Given the description of an element on the screen output the (x, y) to click on. 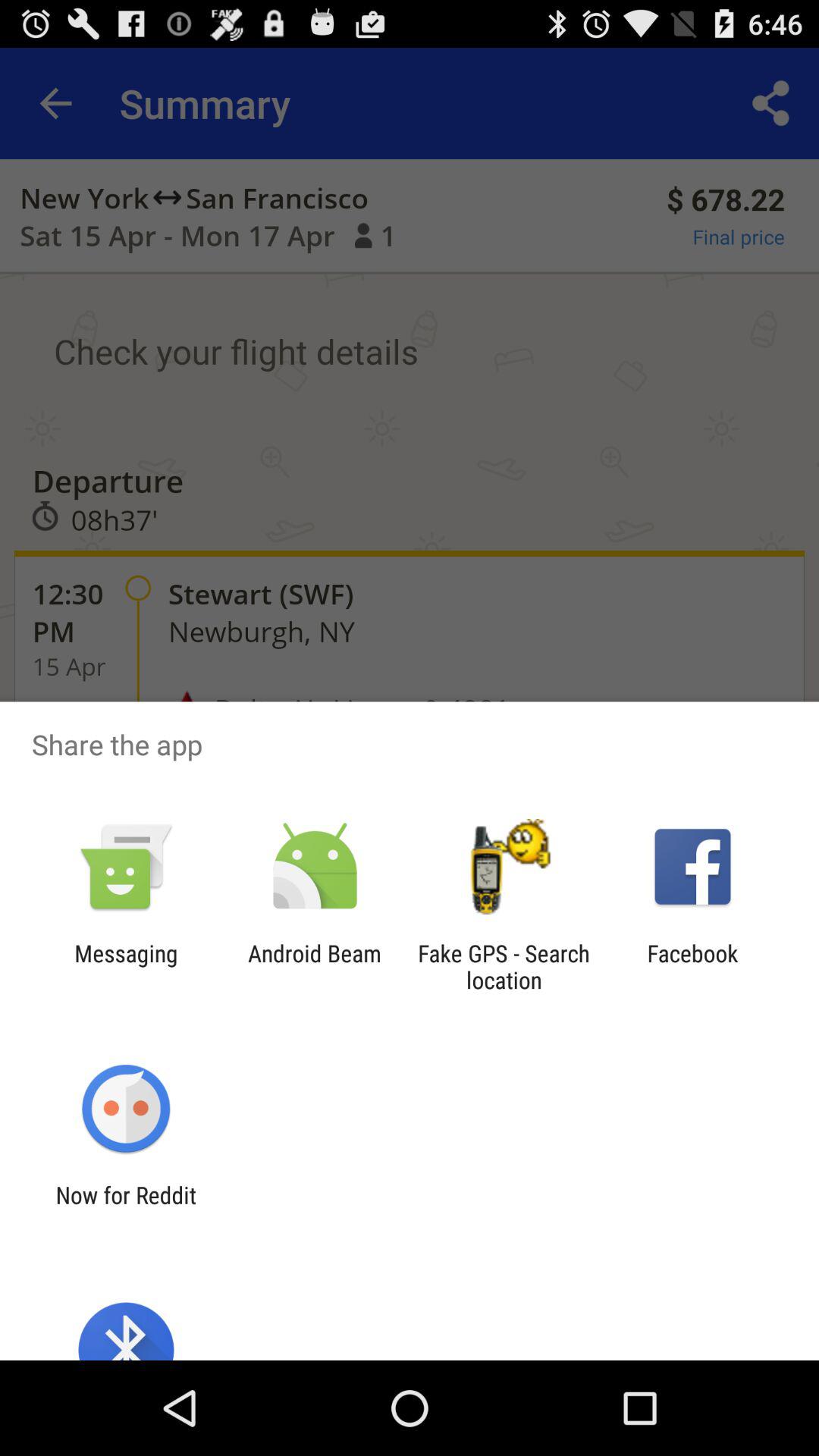
swipe until the android beam app (314, 966)
